Given the description of an element on the screen output the (x, y) to click on. 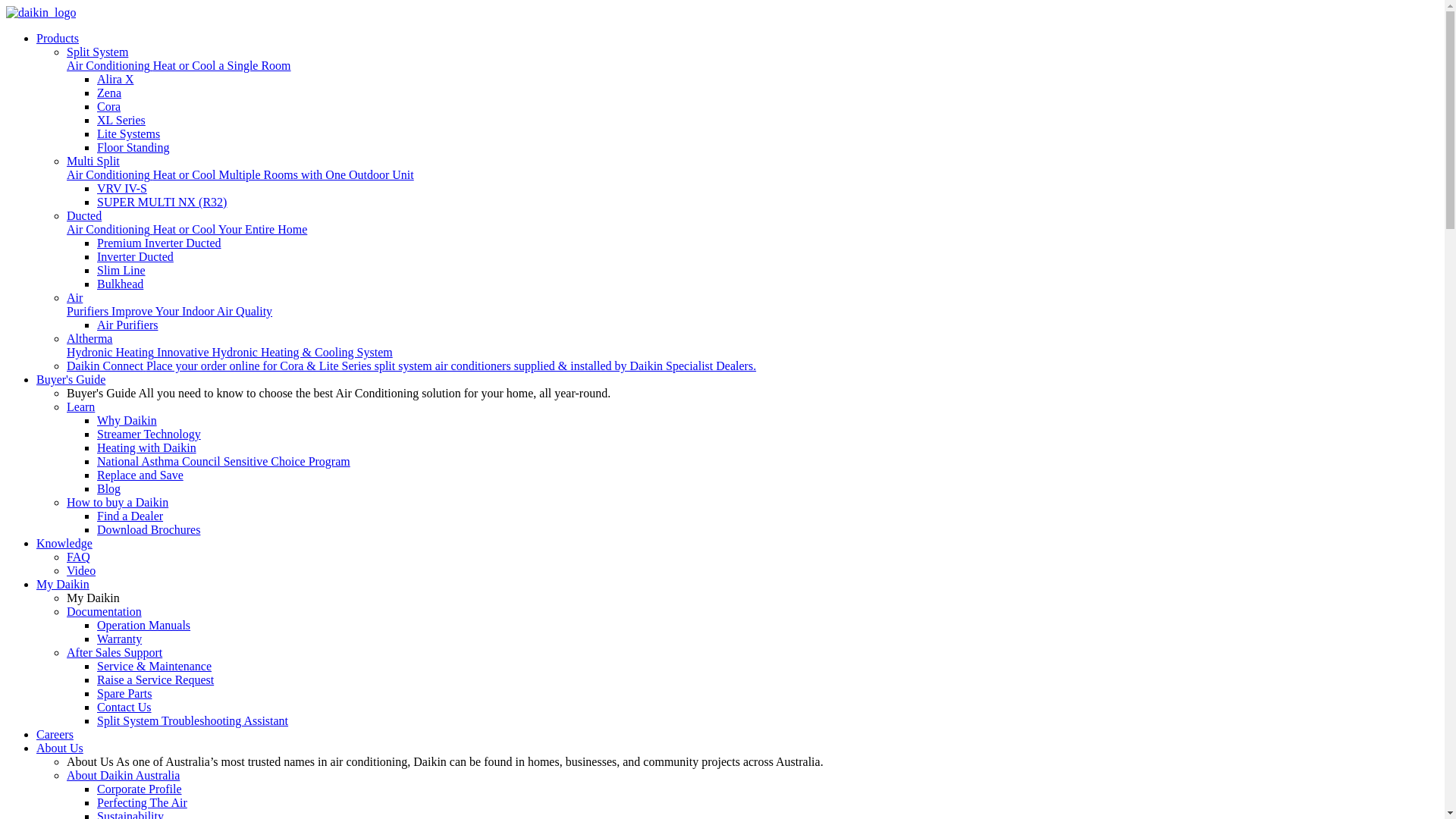
Cora Element type: text (108, 106)
Careers Element type: text (54, 734)
How to buy a Daikin Element type: text (117, 501)
Buyer's Guide Element type: text (70, 379)
Alira X Element type: text (115, 78)
Slim Line Element type: text (121, 269)
SUPER MULTI NX (R32) Element type: text (161, 201)
Why Daikin Element type: text (126, 420)
FAQ Element type: text (78, 556)
Air
Purifiers Improve Your Indoor Air Quality Element type: text (169, 304)
Zena Element type: text (109, 92)
Split System Troubleshooting Assistant Element type: text (192, 720)
After Sales Support Element type: text (114, 652)
Premium Inverter Ducted Element type: text (159, 242)
Streamer Technology Element type: text (148, 433)
VRV IV-S Element type: text (122, 188)
Spare Parts Element type: text (124, 693)
Split System
Air Conditioning Heat or Cool a Single Room Element type: text (178, 58)
XL Series Element type: text (121, 119)
Knowledge Element type: text (64, 542)
Floor Standing Element type: text (133, 147)
Raise a Service Request Element type: text (155, 679)
Find a Dealer Element type: text (130, 515)
My Daikin Element type: text (62, 583)
Replace and Save Element type: text (140, 474)
Service & Maintenance Element type: text (154, 665)
Video Element type: text (80, 570)
Learn Element type: text (80, 406)
Air Purifiers Element type: text (127, 324)
Operation Manuals Element type: text (143, 624)
National Asthma Council Sensitive Choice Program Element type: text (223, 461)
Inverter Ducted Element type: text (135, 256)
Contact Us Element type: text (124, 706)
Heating with Daikin Element type: text (146, 447)
Corporate Profile Element type: text (139, 788)
Documentation Element type: text (103, 611)
Ducted
Air Conditioning Heat or Cool Your Entire Home Element type: text (186, 222)
About Us Element type: text (59, 747)
Products Element type: text (57, 37)
Download Brochures Element type: text (148, 529)
Blog Element type: text (108, 488)
Bulkhead Element type: text (120, 283)
Lite Systems Element type: text (128, 133)
Warranty Element type: text (119, 638)
Perfecting The Air Element type: text (142, 802)
About Daikin Australia Element type: text (122, 774)
